Given the description of an element on the screen output the (x, y) to click on. 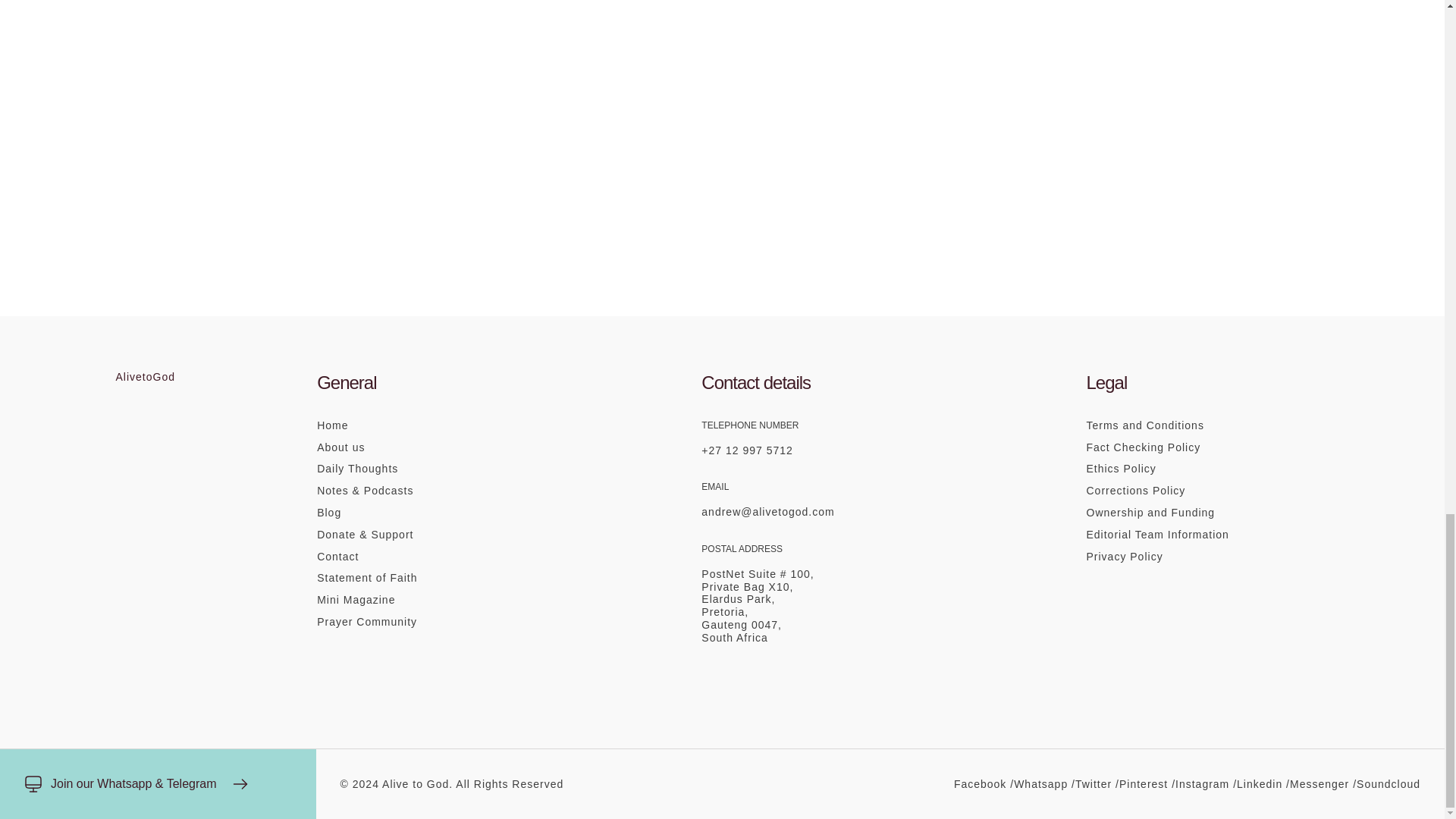
Contact (438, 556)
AlivetoGod (144, 377)
Home (438, 425)
Statement of Faith (438, 577)
Blog (438, 512)
About us (438, 447)
Mini Magazine (438, 599)
Daily Thoughts (438, 468)
Prayer Community (438, 621)
